Given the description of an element on the screen output the (x, y) to click on. 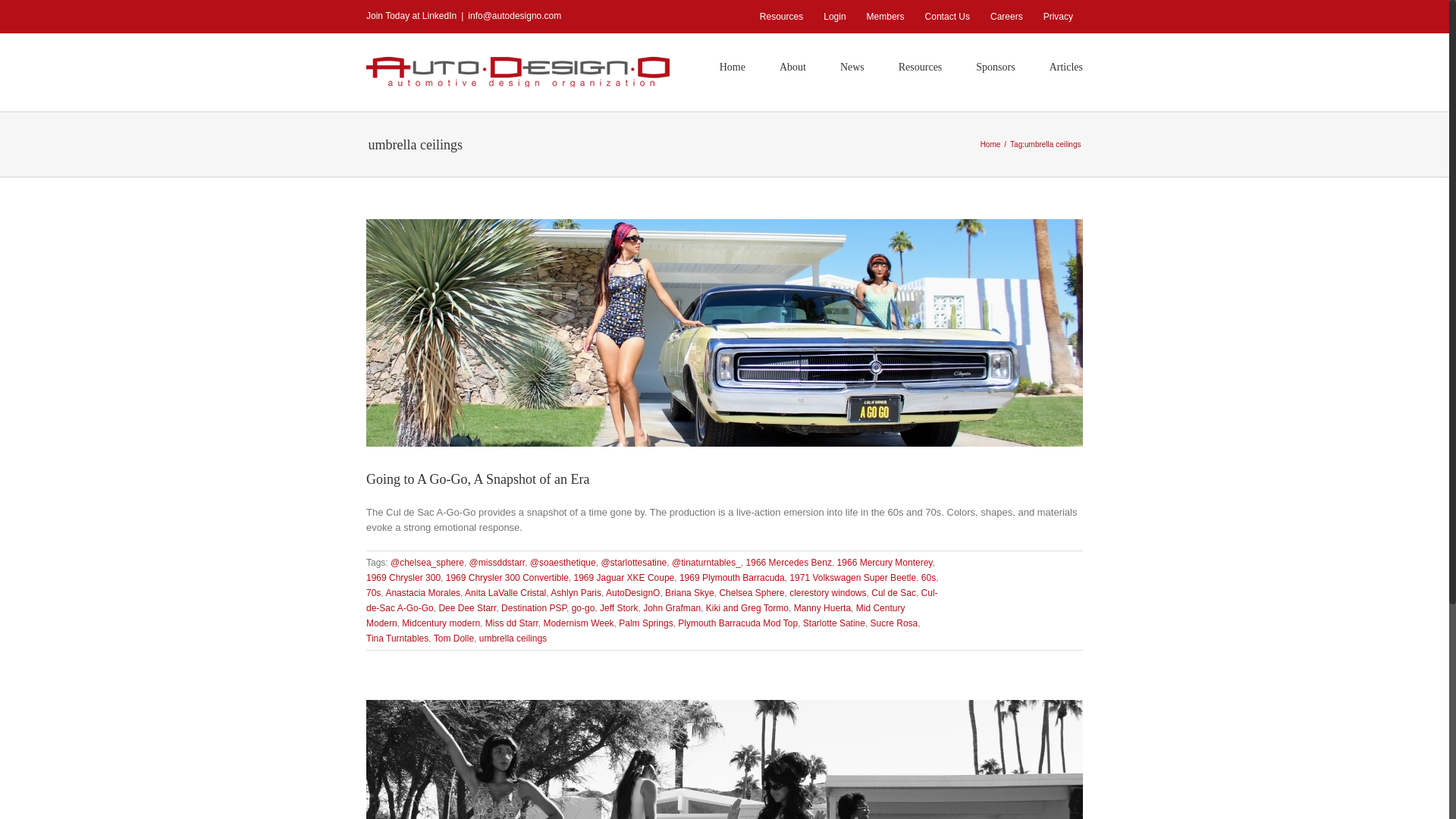
Members (885, 16)
Contact Us (947, 16)
Login (834, 16)
Privacy (1058, 16)
Resources (780, 16)
Careers (1005, 16)
LinkedIn (439, 15)
